Given the description of an element on the screen output the (x, y) to click on. 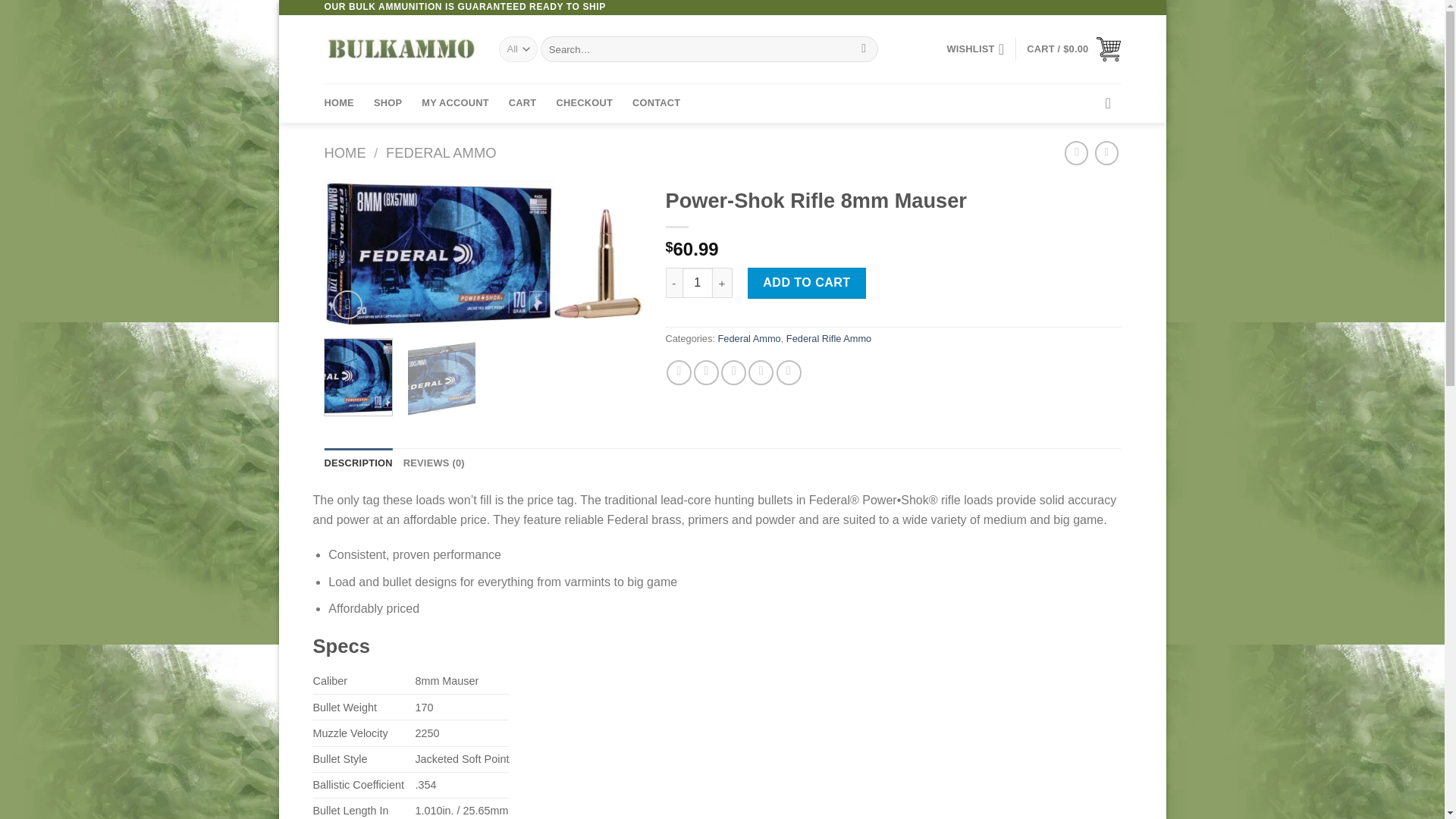
Qty (697, 282)
Federal Rifle Ammo (828, 337)
ADD TO CART (807, 282)
CONTACT (655, 102)
Search (863, 49)
FEDERAL AMMO (440, 152)
MY ACCOUNT (455, 102)
Bulk Ammo Sales - Ammo For Sale Online (400, 49)
1 (697, 282)
HOME (345, 152)
CHECKOUT (584, 102)
Federal Ammo (748, 337)
